Given the description of an element on the screen output the (x, y) to click on. 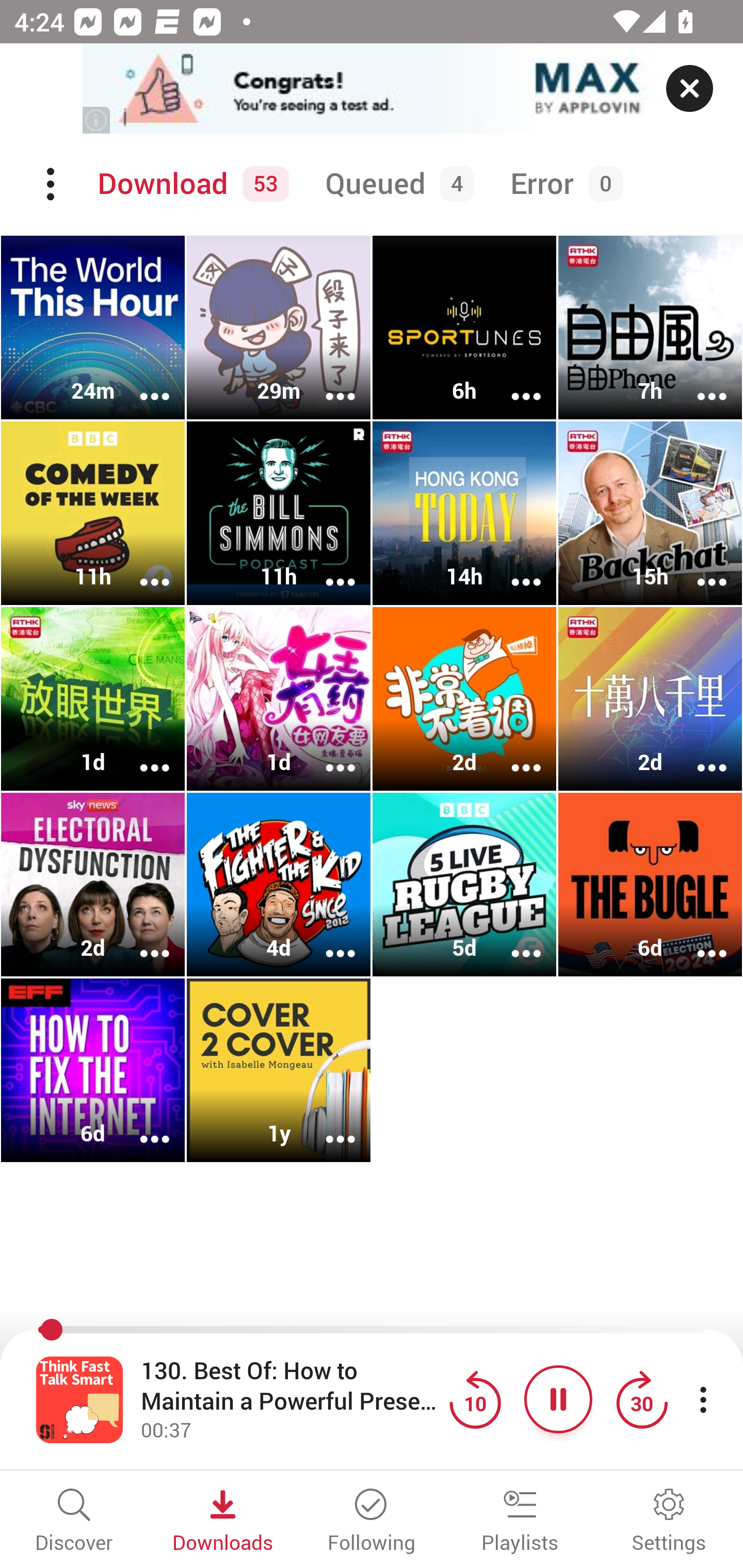
app-monetization (371, 88)
(i) (96, 119)
Menu (52, 184)
 Download 53 (189, 184)
 Queued 4 (396, 184)
 Error 0 (562, 184)
The World This Hour 24m More options More options (92, 327)
段子来了 29m More options More options (278, 327)
Sportunes HK 6h More options More options (464, 327)
自由风自由PHONE 7h More options More options (650, 327)
More options (141, 382)
More options (326, 382)
More options (512, 382)
More options (698, 382)
Comedy of the Week 11h More options More options (92, 513)
Hong Kong Today 14h More options More options (464, 513)
Backchat 15h More options More options (650, 513)
More options (141, 569)
More options (326, 569)
More options (512, 569)
More options (698, 569)
放眼世界 1d More options More options (92, 698)
女王有药丨爆笑脱口秀 1d More options More options (278, 698)
非常不着调 2d More options More options (464, 698)
十萬八千里 2d More options More options (650, 698)
More options (141, 754)
More options (326, 754)
More options (512, 754)
More options (698, 754)
Electoral Dysfunction 2d More options More options (92, 883)
The Fighter & The Kid 4d More options More options (278, 883)
5 Live Rugby League 5d More options More options (464, 883)
The Bugle 6d More options More options (650, 883)
More options (141, 940)
More options (326, 940)
More options (512, 940)
More options (698, 940)
Cover 2 Cover 1y More options More options (278, 1069)
More options (141, 1125)
More options (326, 1125)
Open fullscreen player (79, 1399)
More player controls (703, 1399)
Pause button (558, 1398)
Jump back (475, 1399)
Jump forward (641, 1399)
Discover (74, 1521)
Downloads (222, 1521)
Following (371, 1521)
Playlists (519, 1521)
Settings (668, 1521)
